Given the description of an element on the screen output the (x, y) to click on. 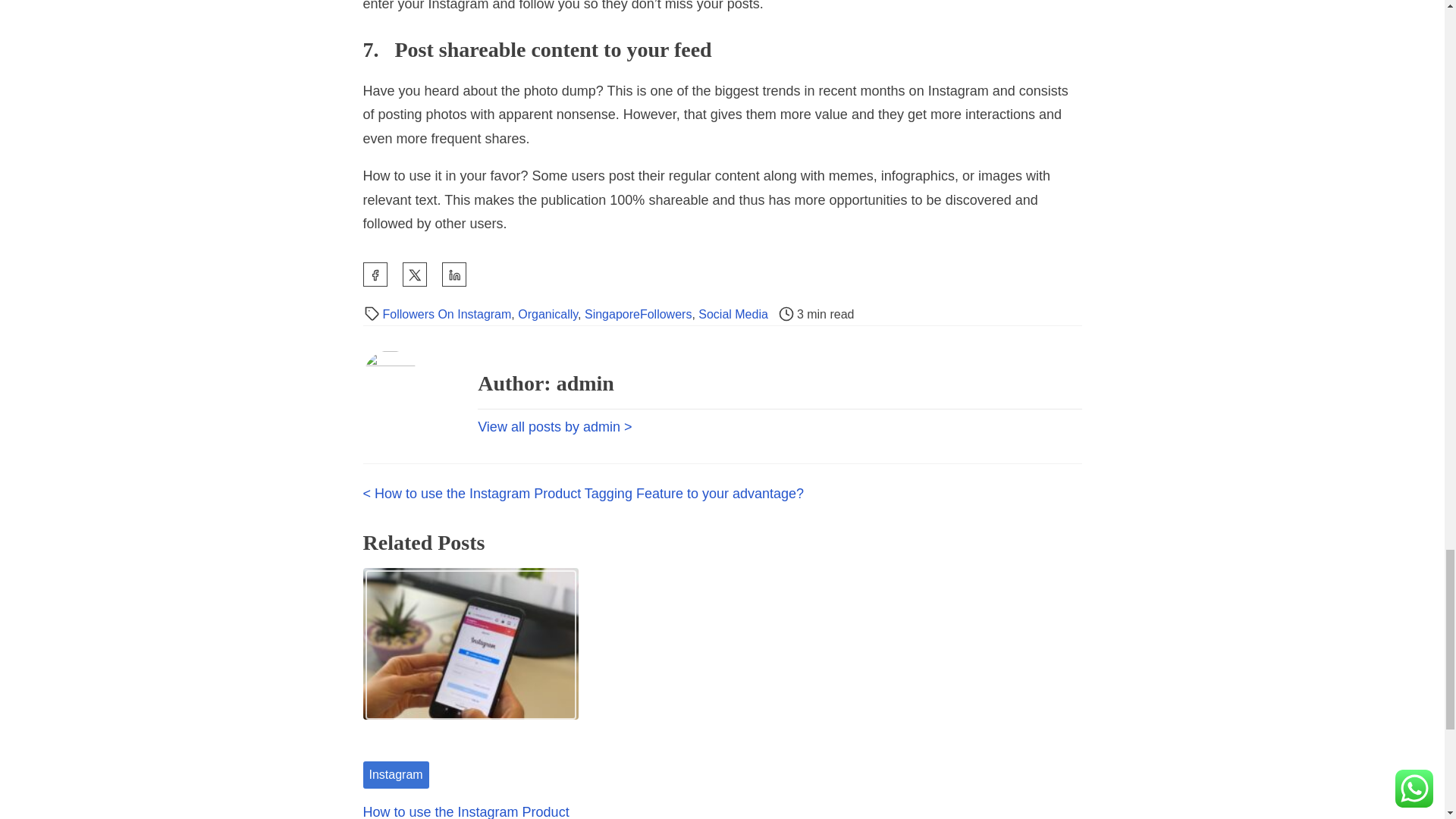
Share this post on Facebook (374, 274)
Social Media (733, 314)
Organically (548, 314)
Share this post on Twitter (414, 274)
SingaporeFollowers (638, 314)
Followers On Instagram (446, 314)
Instagram (395, 774)
Share this post on Linkedin (453, 274)
